Given the description of an element on the screen output the (x, y) to click on. 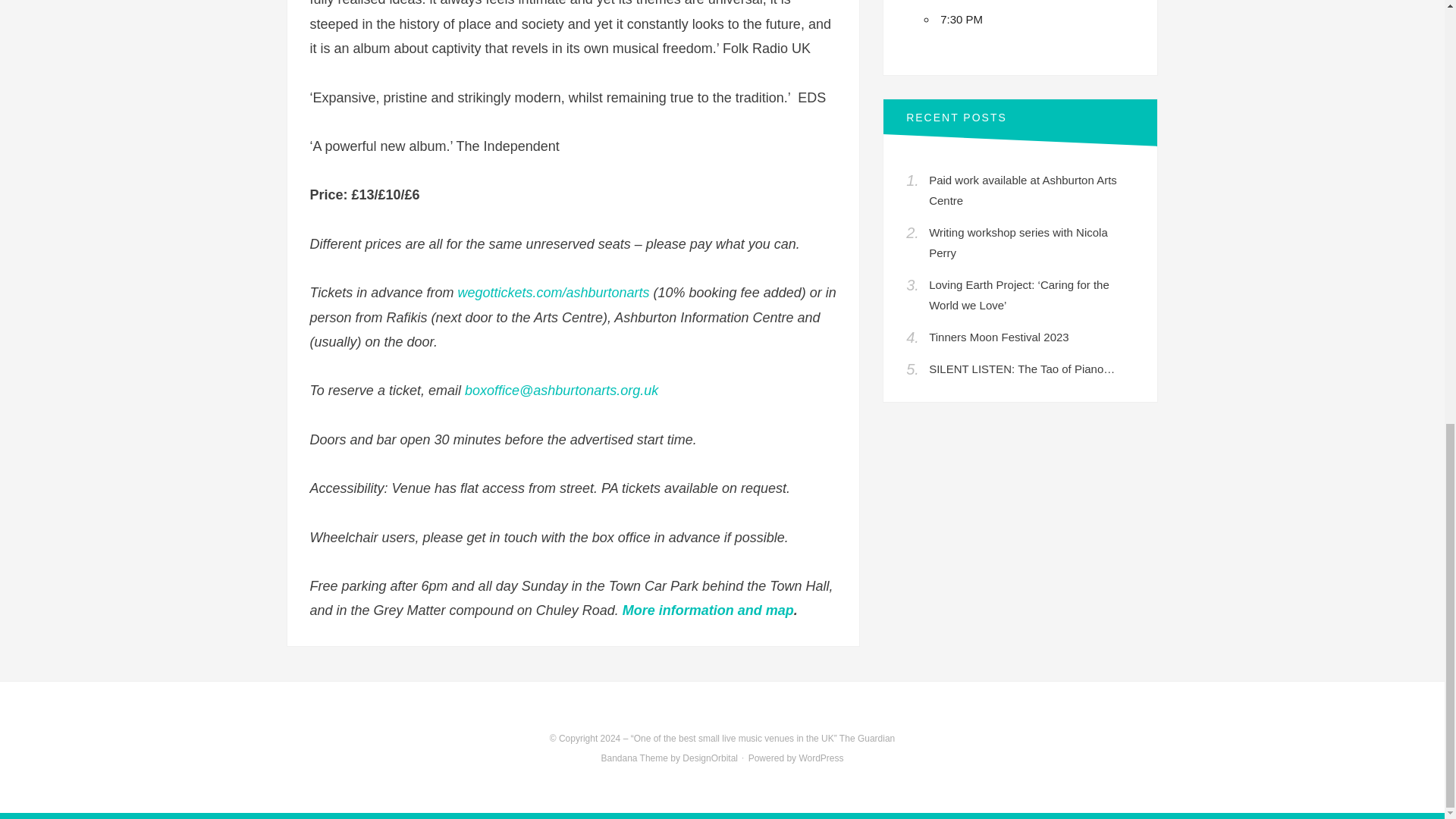
Tinners Moon Festival 2023 (998, 336)
WordPress (820, 757)
DesignOrbital (710, 757)
WordPress (820, 757)
More information and map (708, 610)
DesignOrbital (710, 757)
Writing workshop series with Nicola Perry (1018, 242)
Paid work available at Ashburton Arts Centre (1022, 190)
